Given the description of an element on the screen output the (x, y) to click on. 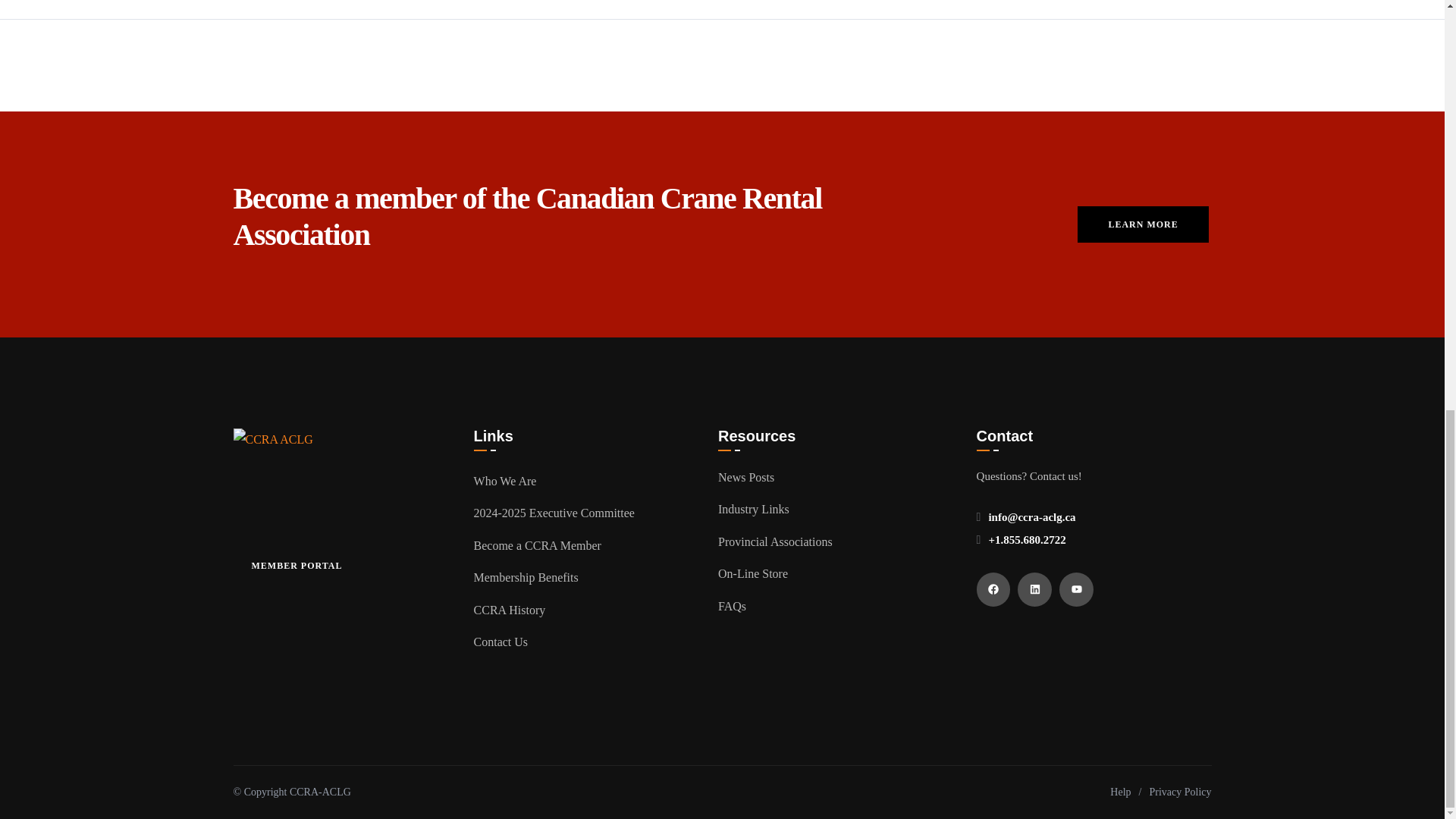
Privacy Policy (1179, 792)
address (1026, 539)
Help      (1120, 792)
address (1031, 517)
